Given the description of an element on the screen output the (x, y) to click on. 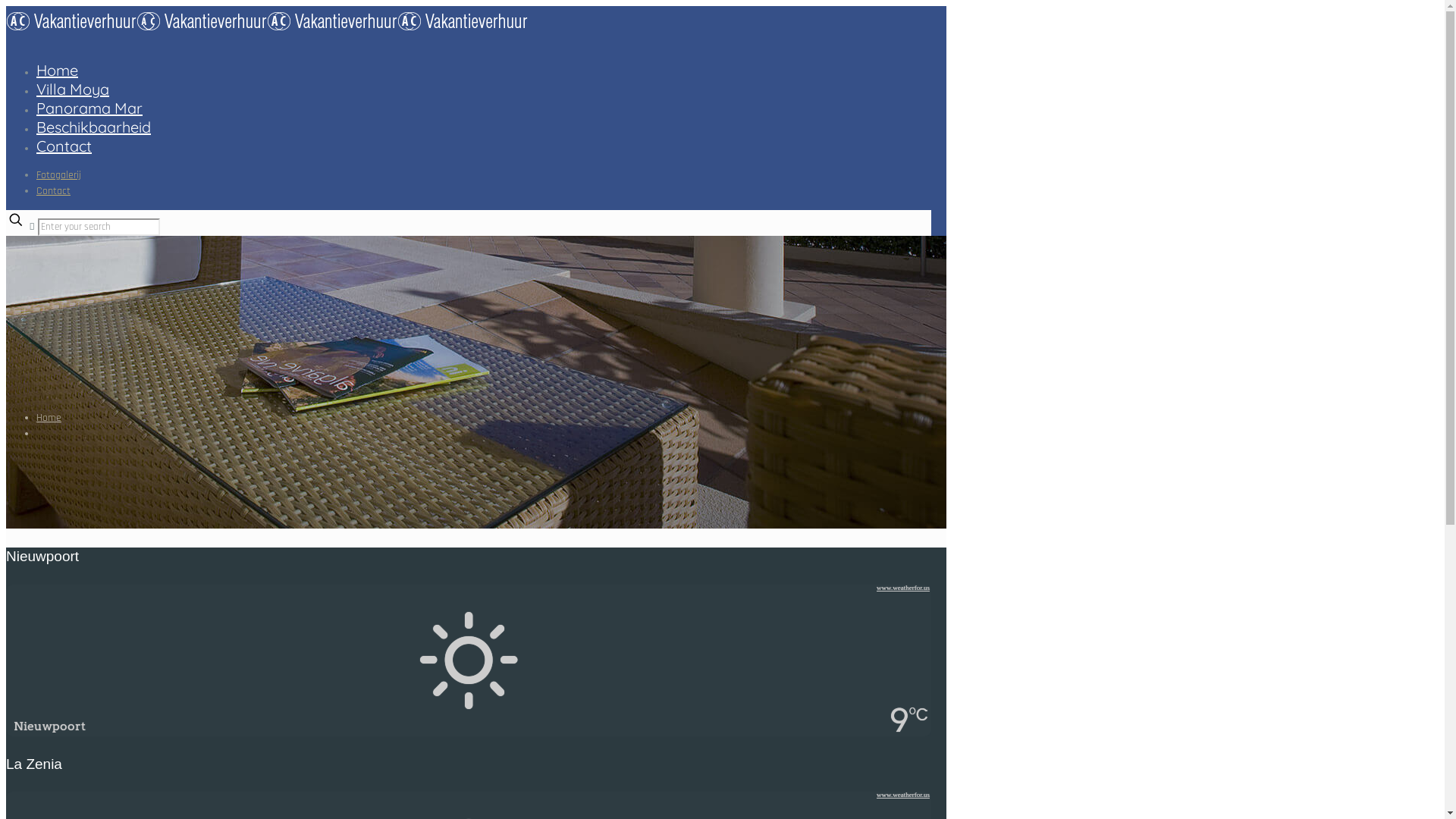
Beschikbaarheid Element type: text (93, 126)
Panorama Mar Element type: text (89, 107)
Contact Element type: text (63, 145)
Alain Element type: hover (266, 28)
Home Element type: text (57, 70)
Contact Element type: text (53, 190)
Villa Moya Element type: text (72, 88)
Fotogalerij Element type: text (58, 175)
Home Element type: text (48, 417)
